Given the description of an element on the screen output the (x, y) to click on. 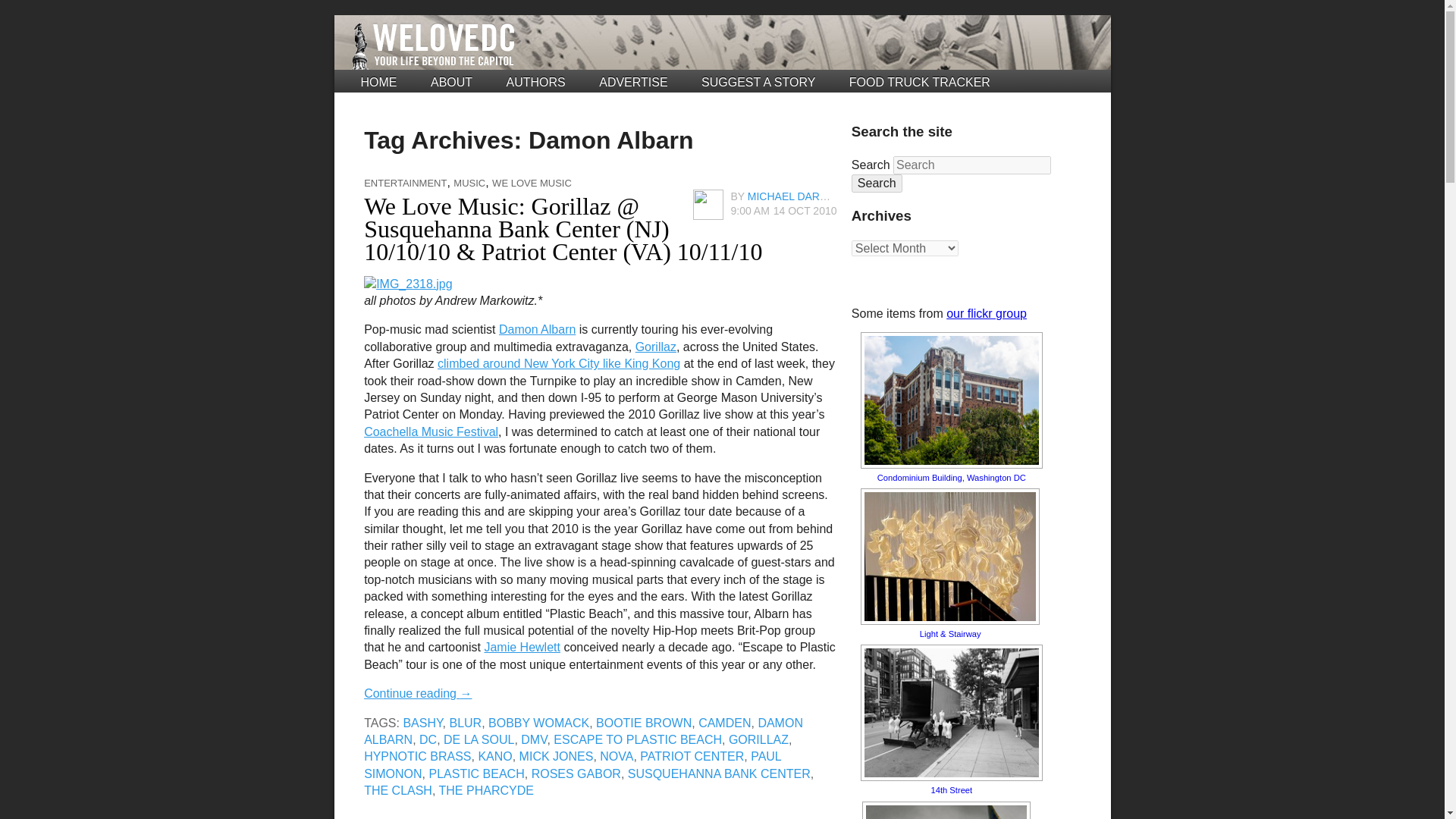
PATRIOT CENTER (692, 756)
HOME (379, 82)
WE LOVE MUSIC (532, 183)
NOVA (616, 756)
climbed around New York City like King Kong (558, 363)
Jamie Hewlett (521, 646)
MUSIC (468, 183)
BLUR (464, 722)
HYPNOTIC BRASS (417, 756)
BOOTIE BROWN (643, 722)
BOBBY WOMACK (538, 722)
ESCAPE TO PLASTIC BEACH (637, 739)
ABOUT (450, 82)
Damon Albarn (537, 328)
AUTHORS (536, 82)
